Given the description of an element on the screen output the (x, y) to click on. 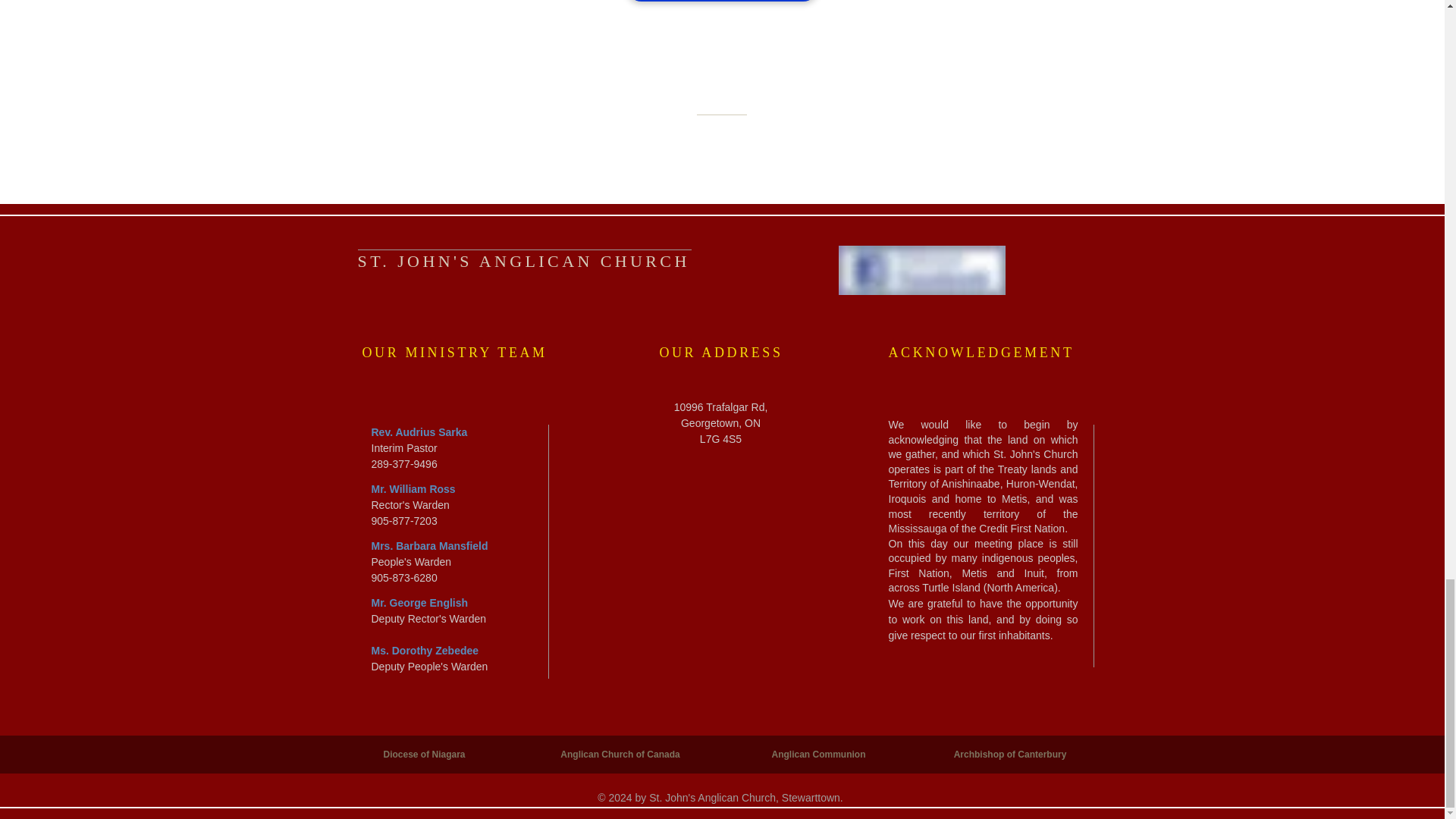
Anglican Communion (818, 754)
Google Maps (713, 561)
Diocese of Niagara (424, 754)
Archbishop of Canterbury (1010, 754)
Anglican Church of Canada (619, 754)
